Given the description of an element on the screen output the (x, y) to click on. 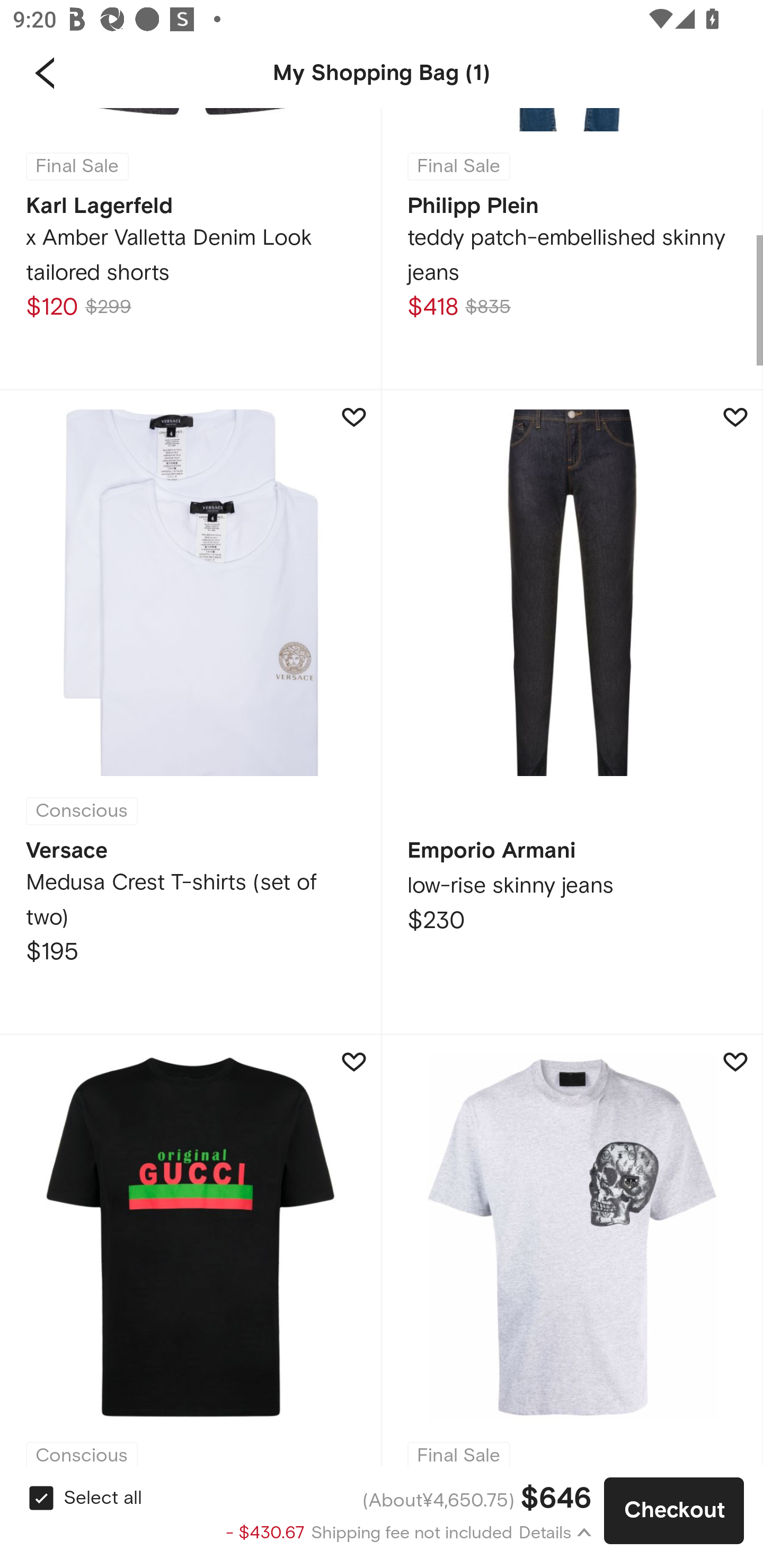
Emporio Armani low-rise skinny jeans  $230 (572, 711)
Checkout (673, 1510)
